Given the description of an element on the screen output the (x, y) to click on. 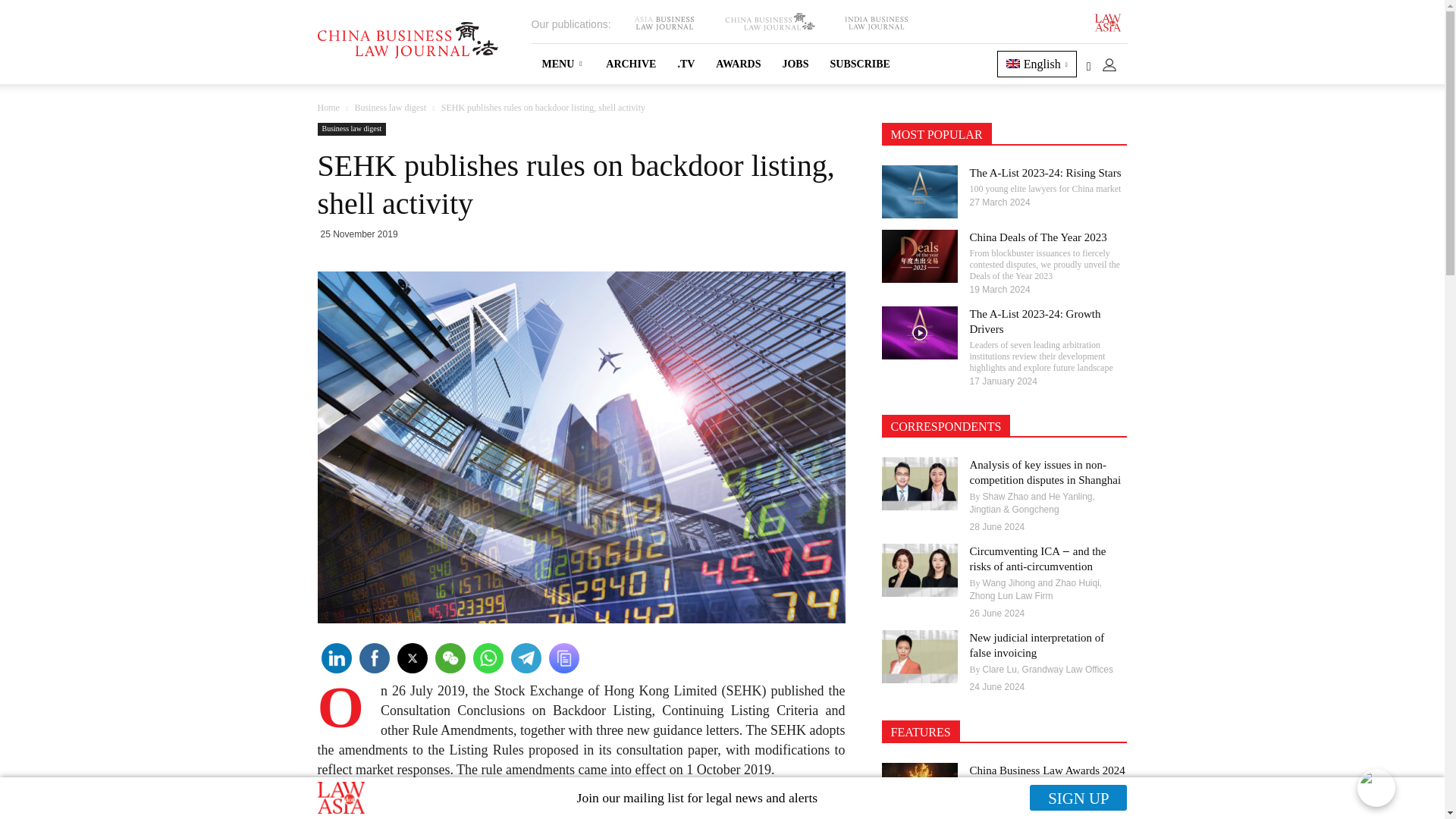
Twitter (411, 658)
LinkedIn (335, 658)
ABLJ (664, 23)
IBLJ (875, 23)
MENU (563, 64)
Whatsapp (487, 658)
Copy link (563, 658)
Facebook (373, 658)
CBLJ (769, 23)
Telegram (525, 658)
View all posts in Business law digest (389, 107)
